Given the description of an element on the screen output the (x, y) to click on. 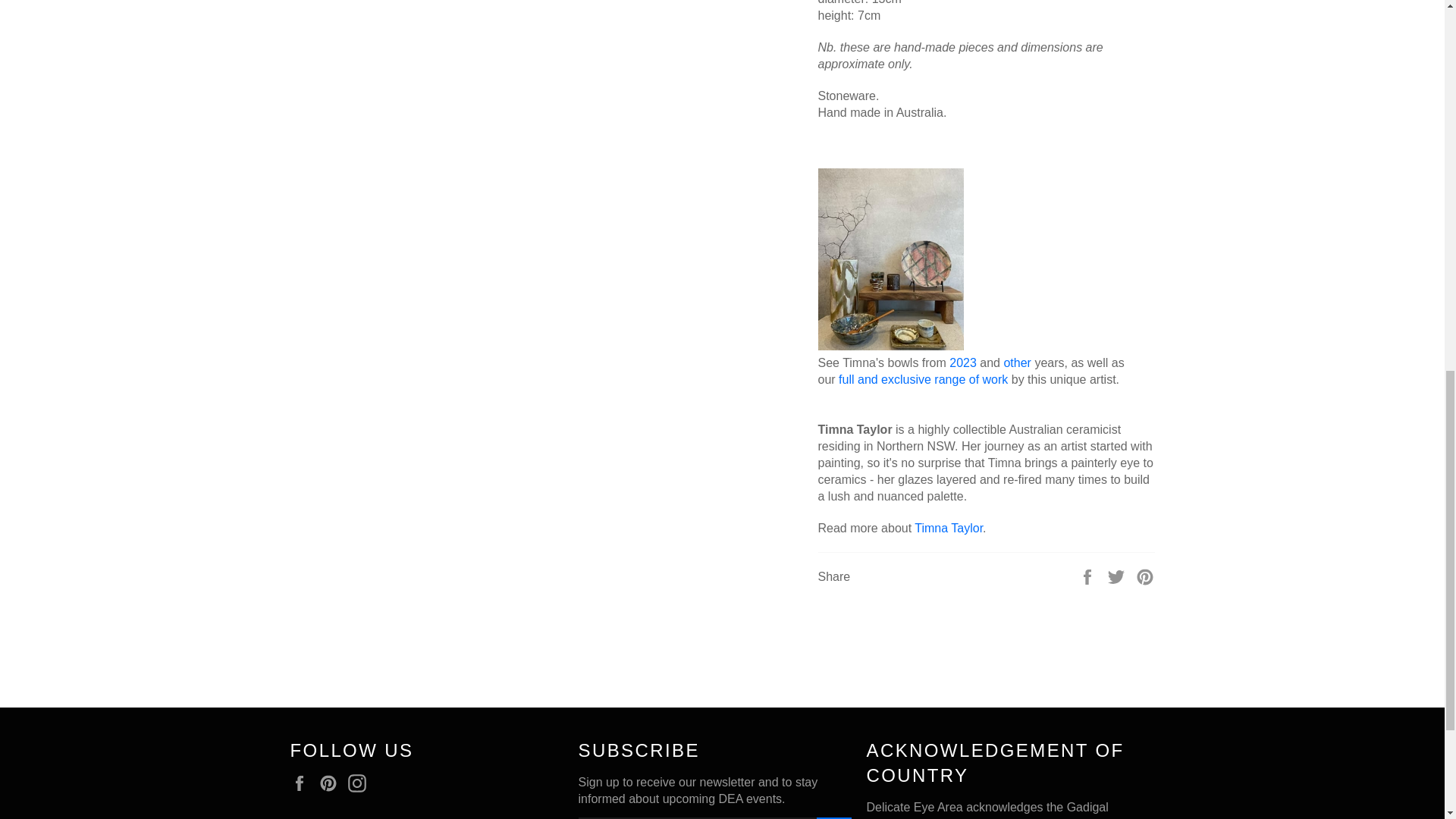
Pin on Pinterest (1144, 575)
THE DEA STORE on Instagram (360, 782)
Tweet on Twitter (1117, 575)
Share on Facebook (1088, 575)
THE DEA STORE on Facebook (302, 782)
Timna Taylor (948, 527)
THE DEA STORE on Pinterest (331, 782)
